Given the description of an element on the screen output the (x, y) to click on. 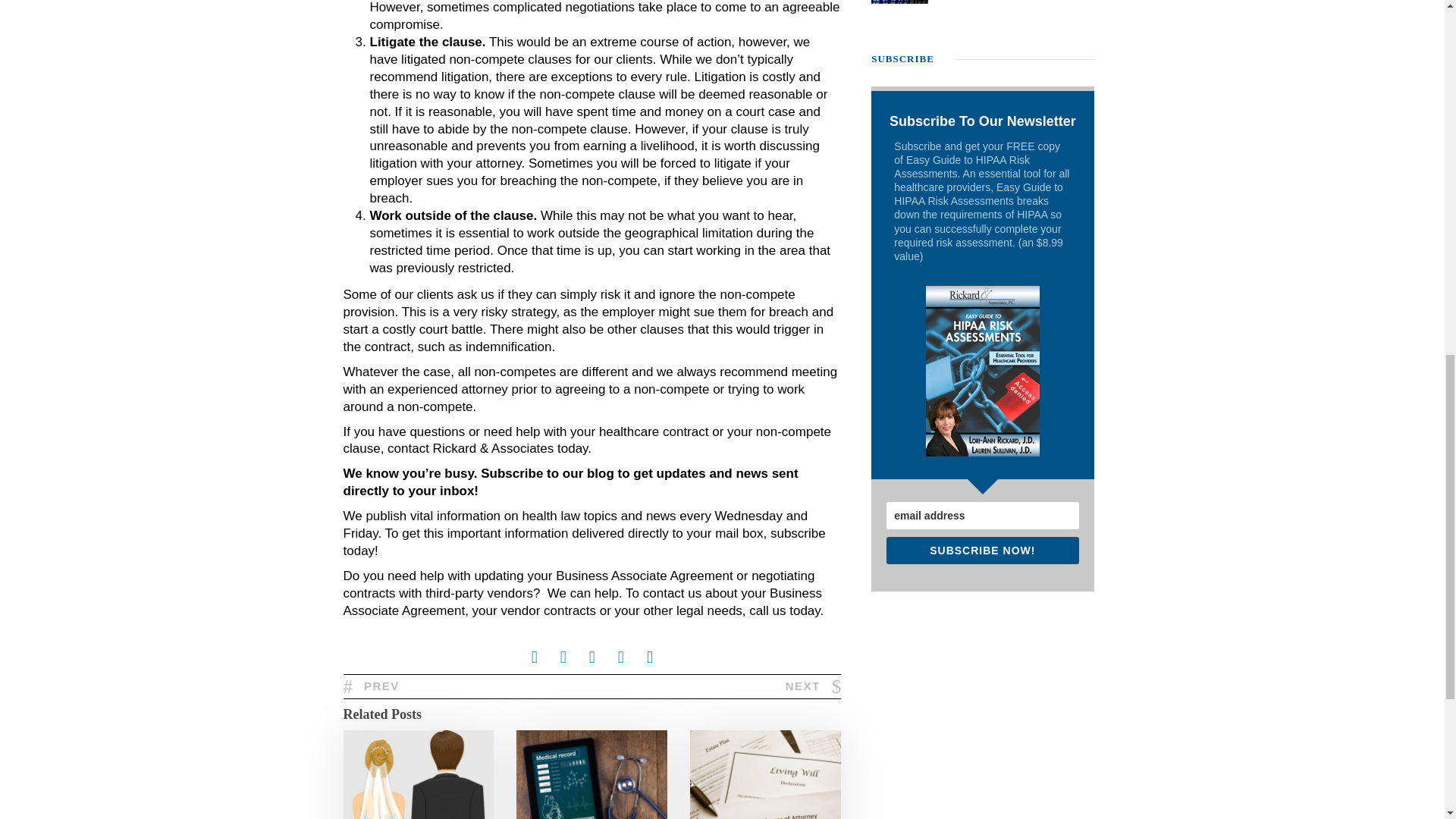
PREV (370, 685)
bride-groom-pic (417, 774)
NEXT (813, 685)
Legal and estate planning documents (765, 774)
Medical record (591, 774)
